Given the description of an element on the screen output the (x, y) to click on. 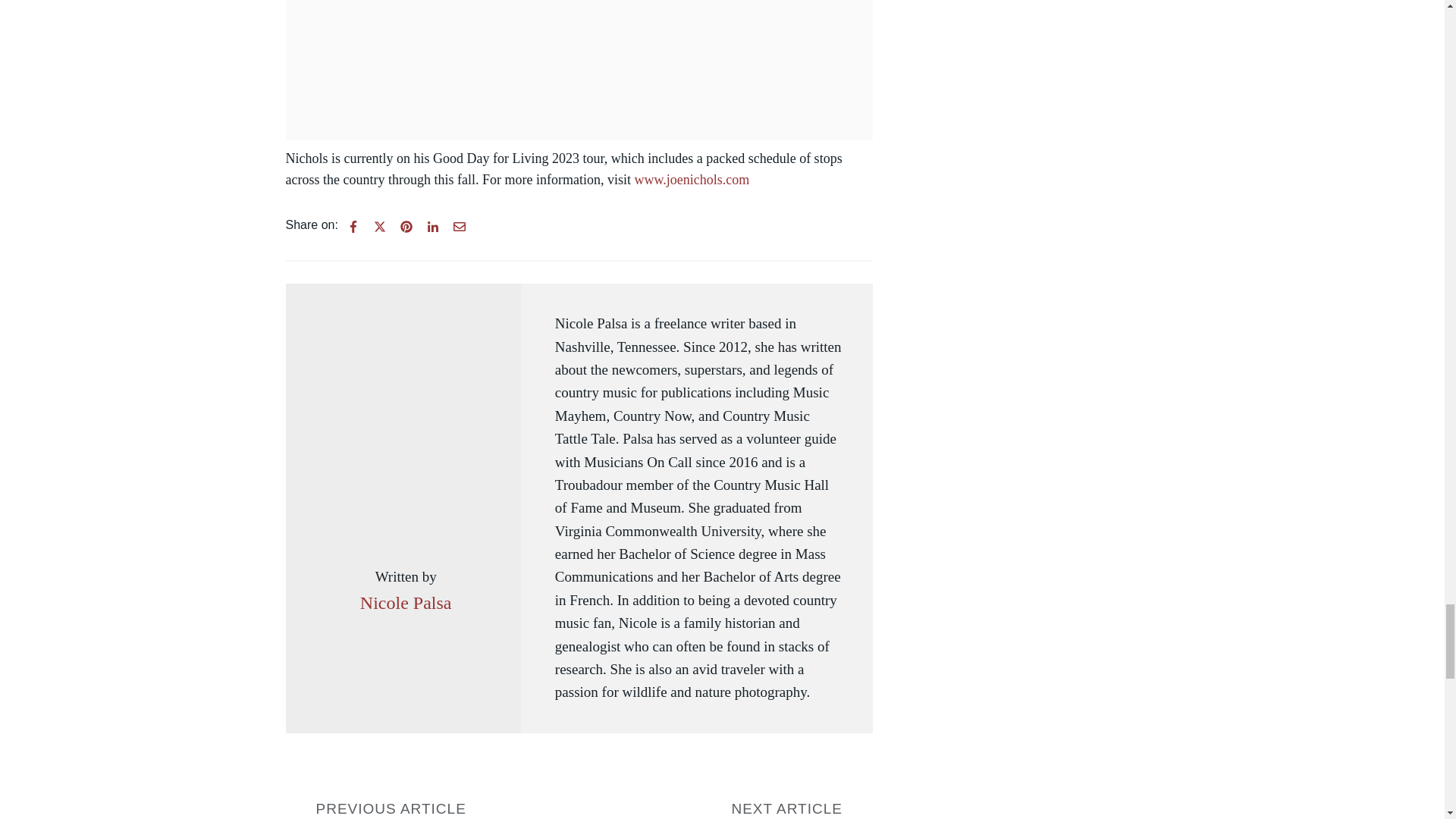
www.joenichols.com (691, 179)
